Given the description of an element on the screen output the (x, y) to click on. 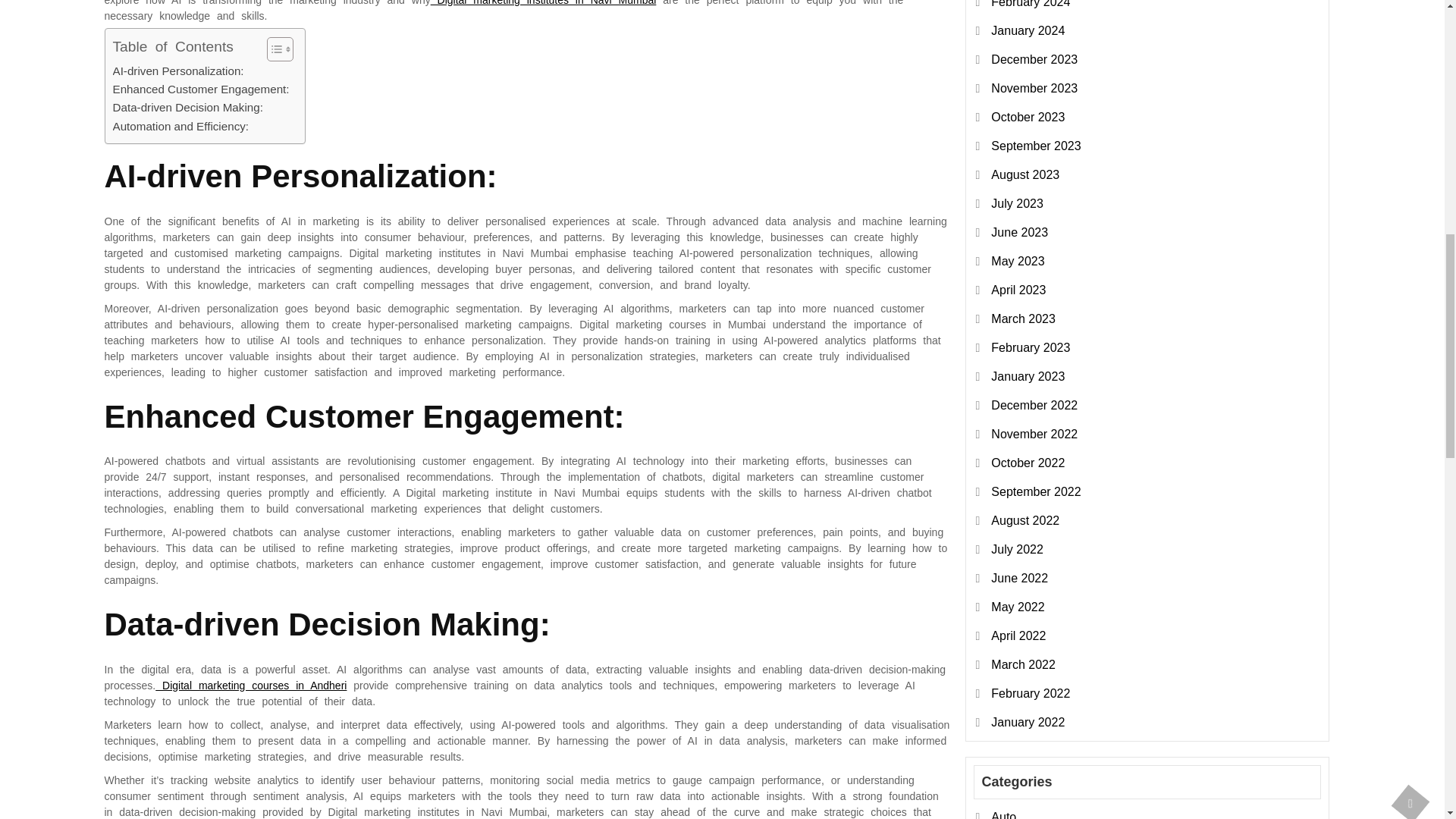
February 2024 (1030, 4)
Digital marketing courses in Andheri (250, 685)
October 2023 (1027, 116)
Automation and Efficiency: (180, 126)
December 2023 (1034, 59)
Data-driven Decision Making: (187, 107)
Enhanced Customer Engagement: (200, 89)
Automation and Efficiency: (180, 126)
Enhanced Customer Engagement: (200, 89)
AI-driven Personalization: (177, 71)
